Given the description of an element on the screen output the (x, y) to click on. 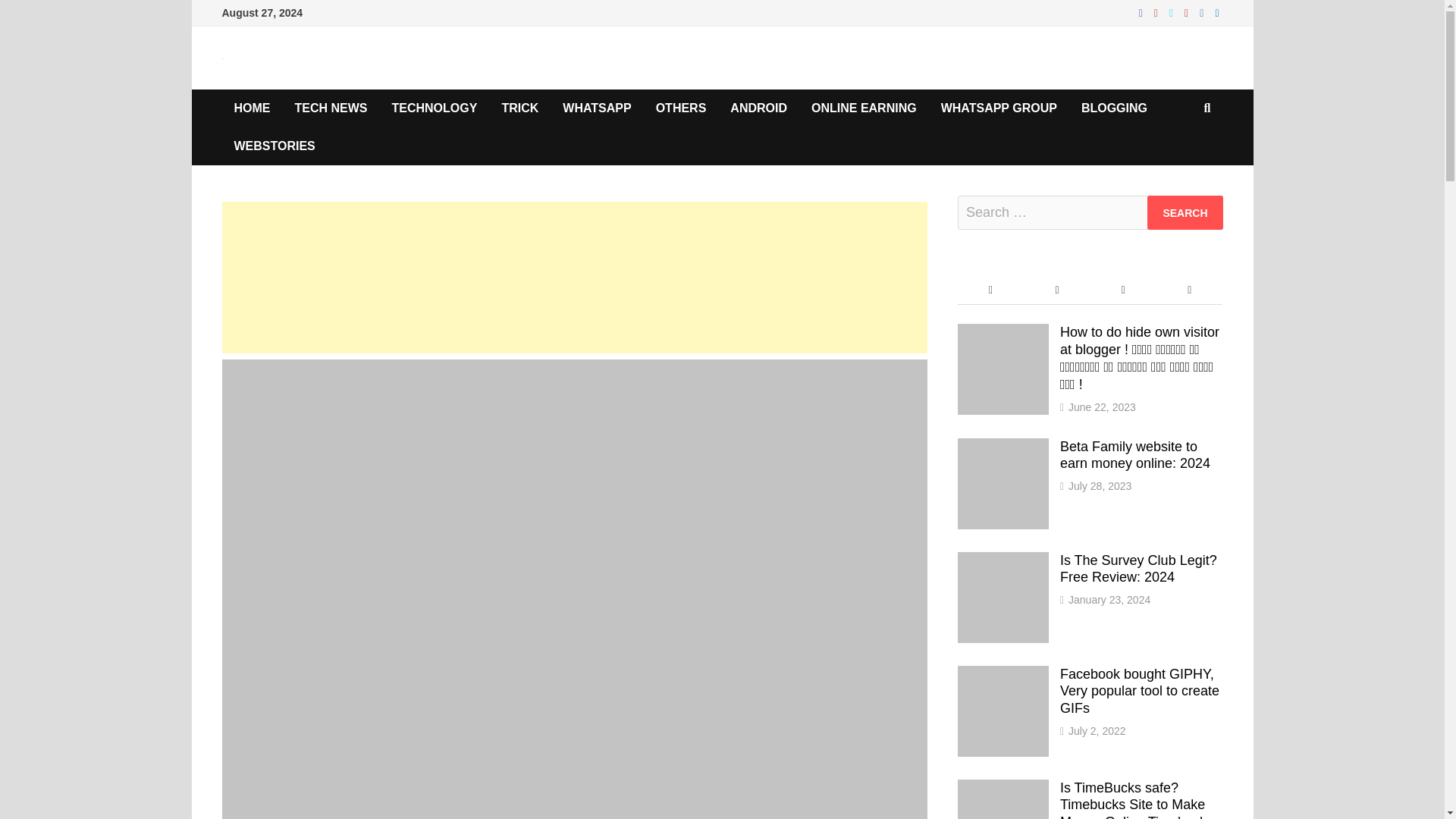
Youtube (1158, 11)
TRICK (519, 108)
Search (1185, 212)
Pinterest (1187, 11)
WEBSTORIES (273, 146)
Facebook (1142, 11)
ONLINE EARNING (863, 108)
OTHERS (681, 108)
Search (1185, 212)
Instagram (1203, 11)
